Given the description of an element on the screen output the (x, y) to click on. 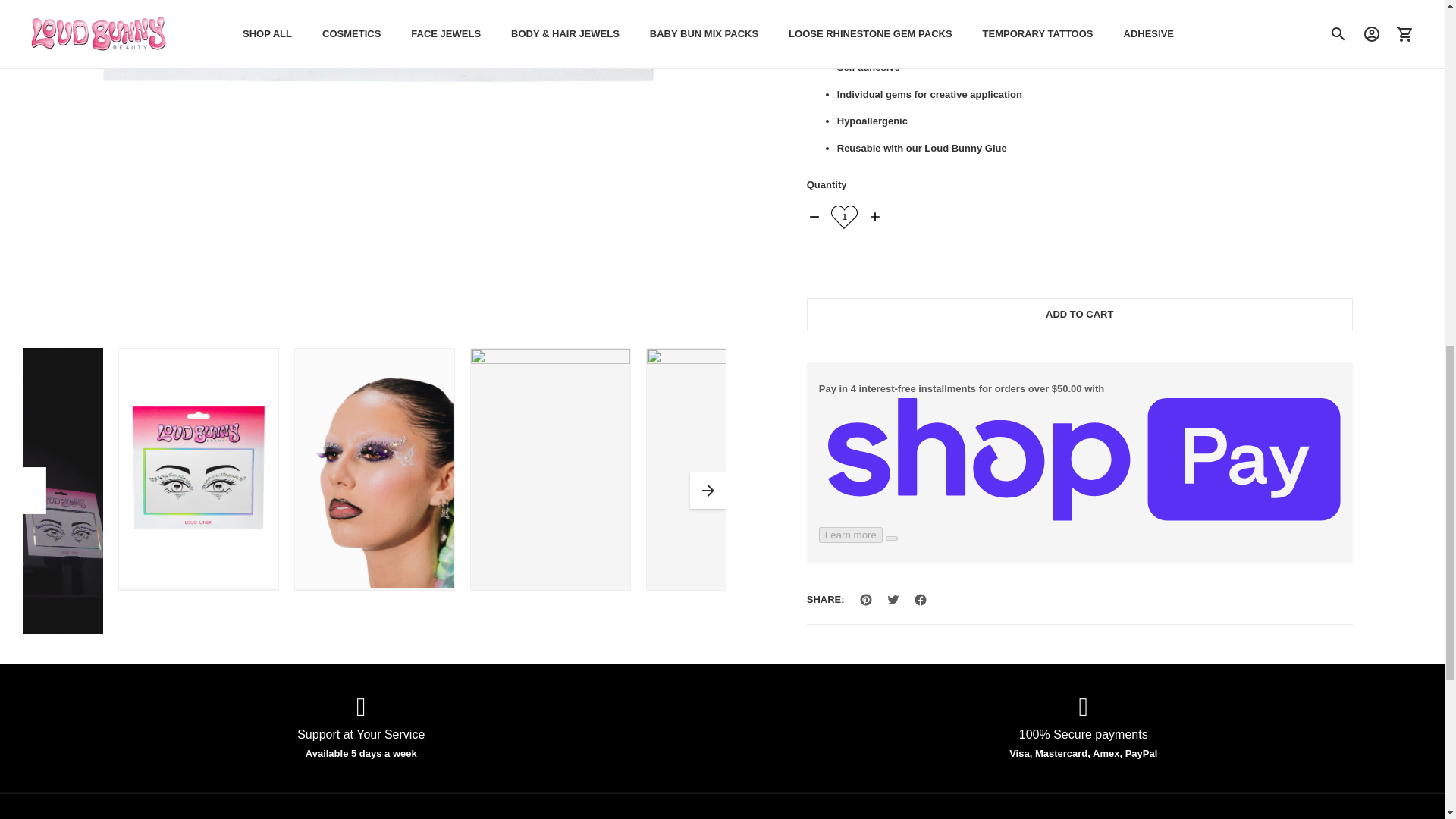
Share to twitter (893, 39)
Share to Pinterest (865, 39)
Open Image (198, 469)
Open Image (726, 469)
Next (708, 490)
Open Image (550, 469)
Share to Facebook (920, 39)
Open Image (374, 469)
